Given the description of an element on the screen output the (x, y) to click on. 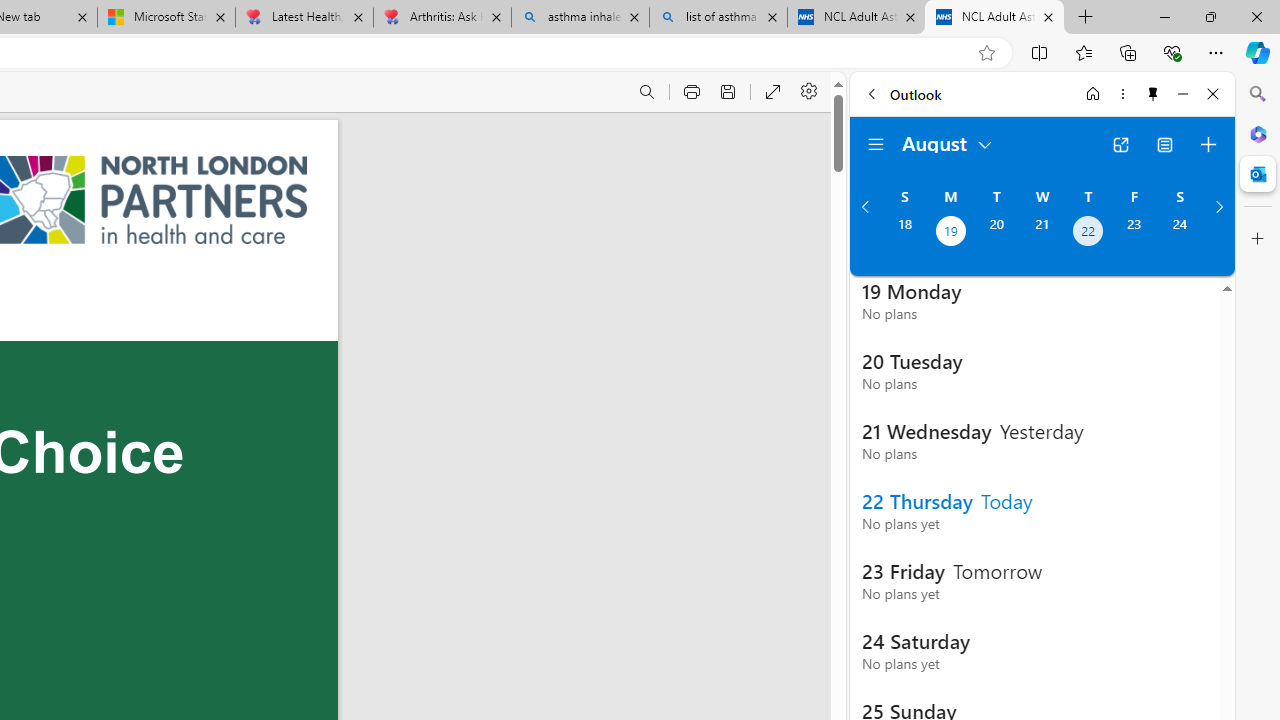
Unpin side pane (1153, 93)
Friday, August 23, 2024.  (1134, 233)
Wednesday, August 21, 2024.  (1042, 233)
NCL Adult Asthma Inhaler Choice Guideline (994, 17)
Sunday, August 18, 2024.  (904, 233)
Open in new tab (1120, 144)
